Given the description of an element on the screen output the (x, y) to click on. 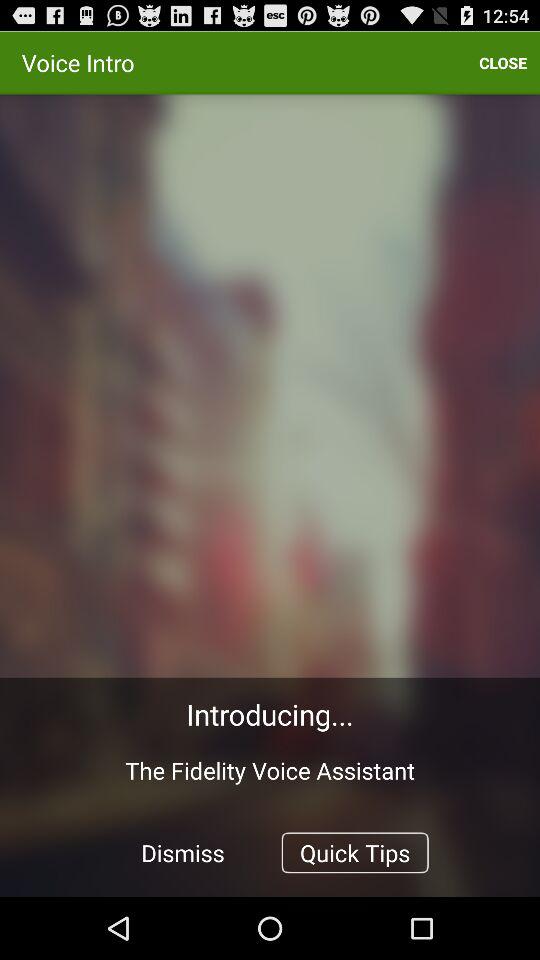
scroll until close (503, 62)
